Given the description of an element on the screen output the (x, y) to click on. 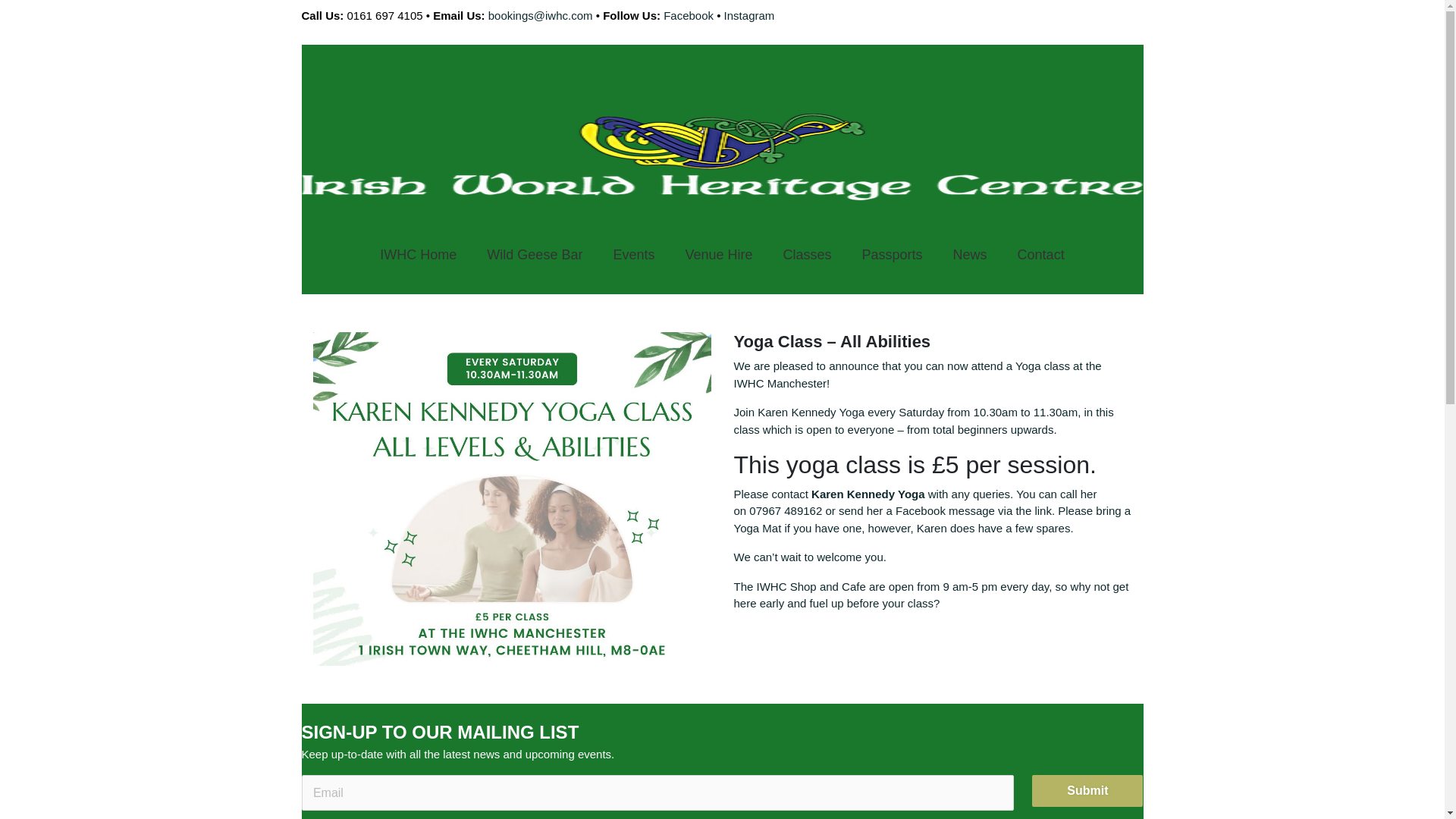
IWHC Home (418, 254)
Submit (1087, 790)
IWHC (772, 585)
Classes (806, 254)
Events (632, 254)
Contact (1041, 254)
Wild Geese Bar (533, 254)
News (970, 254)
Facebook (688, 15)
Venue Hire (718, 254)
